Given the description of an element on the screen output the (x, y) to click on. 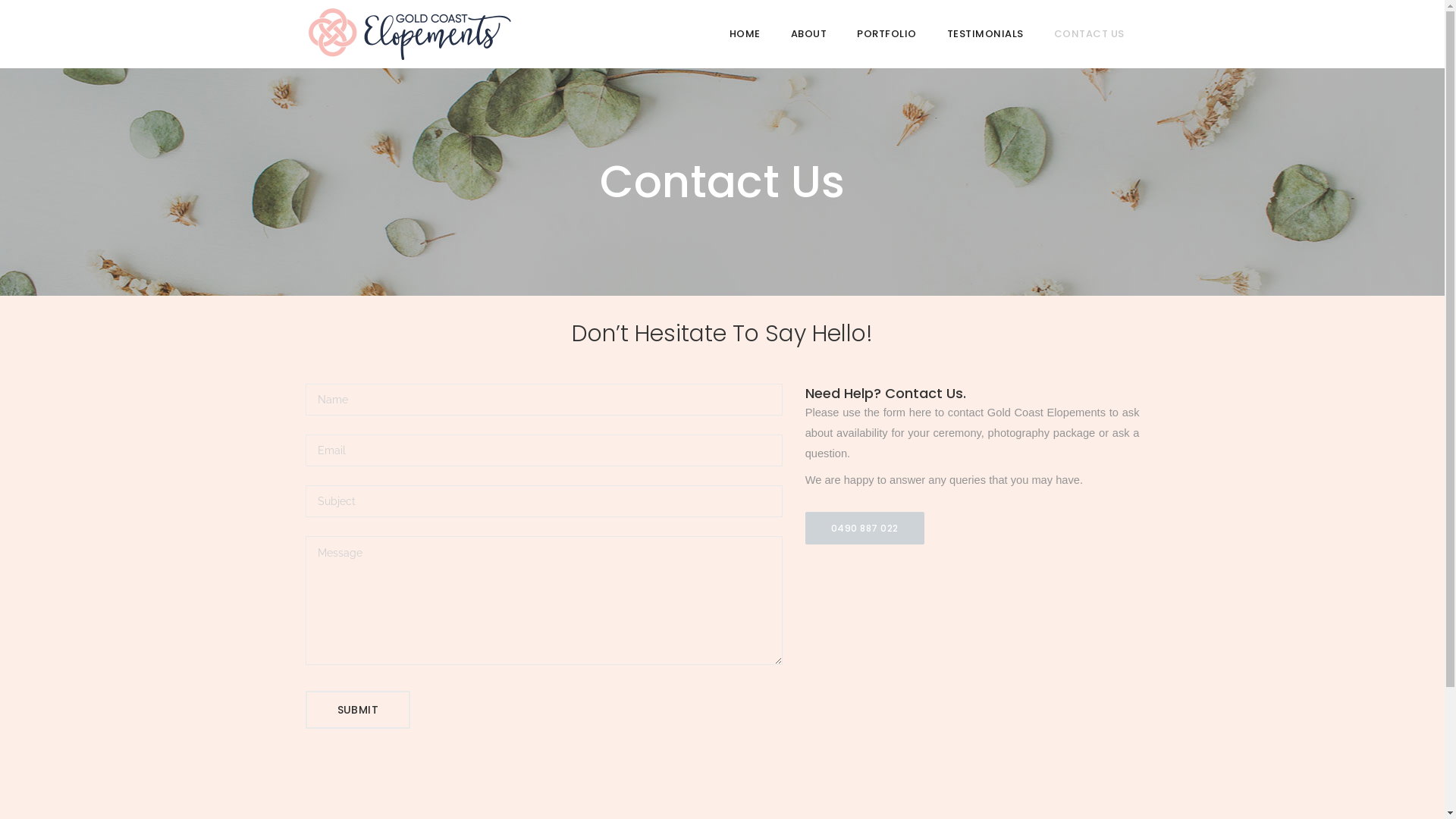
CONTACT US Element type: text (1088, 34)
0490 887 022 Element type: text (864, 527)
PORTFOLIO Element type: text (886, 34)
Submit Element type: text (356, 709)
TESTIMONIALS Element type: text (984, 34)
ABOUT Element type: text (808, 34)
HOME Element type: text (744, 34)
